Given the description of an element on the screen output the (x, y) to click on. 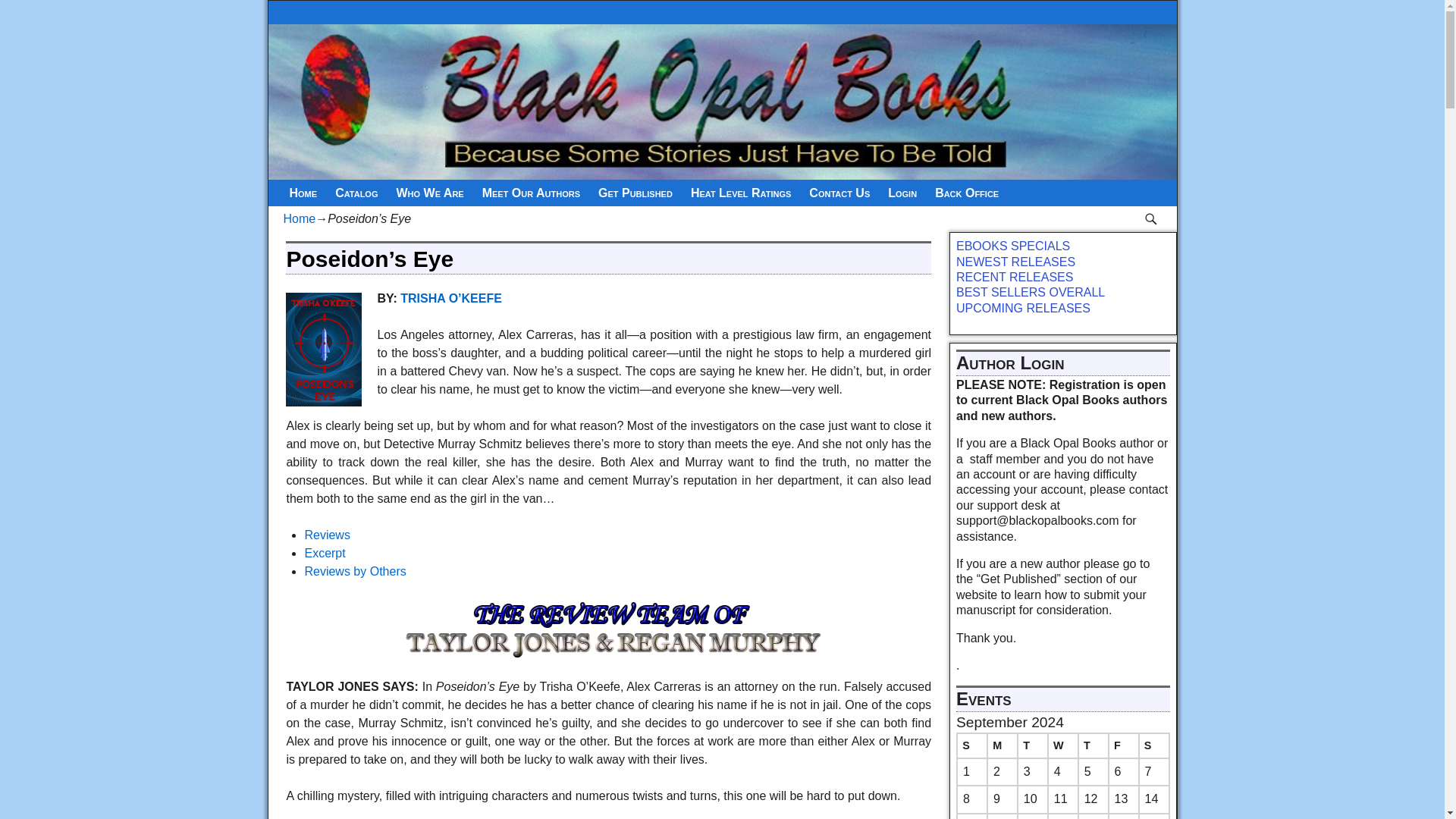
Catalog (356, 192)
Friday (1123, 745)
Heat Level Ratings (740, 192)
Excerpt (324, 553)
Meet Our Authors (531, 192)
EBOOKS SPECIALS  (1015, 245)
Home (299, 218)
RECENT RELEASES (1014, 277)
Monday (1002, 745)
Saturday (1153, 745)
